Given the description of an element on the screen output the (x, y) to click on. 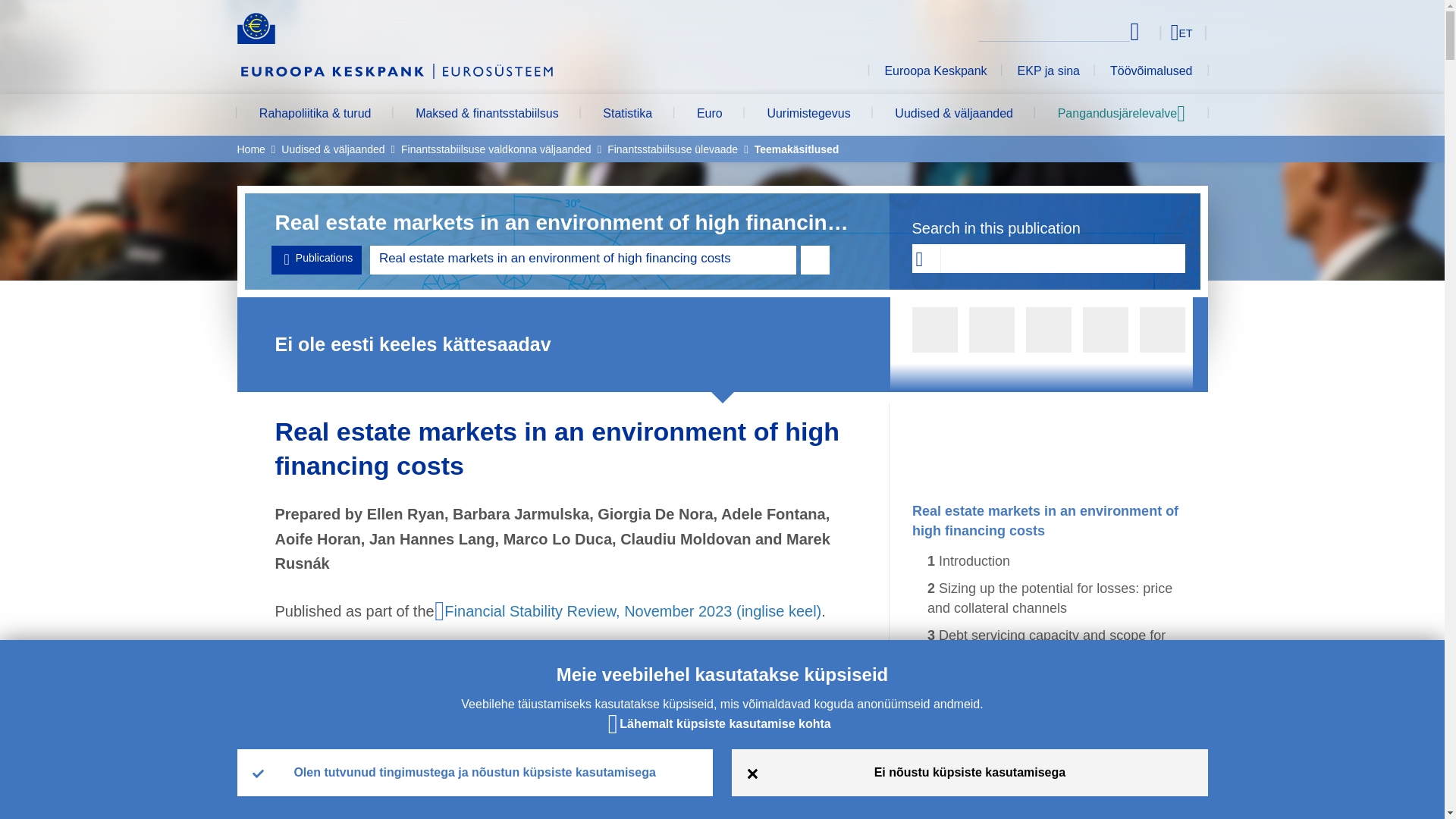
Select language (1153, 32)
